Given the description of an element on the screen output the (x, y) to click on. 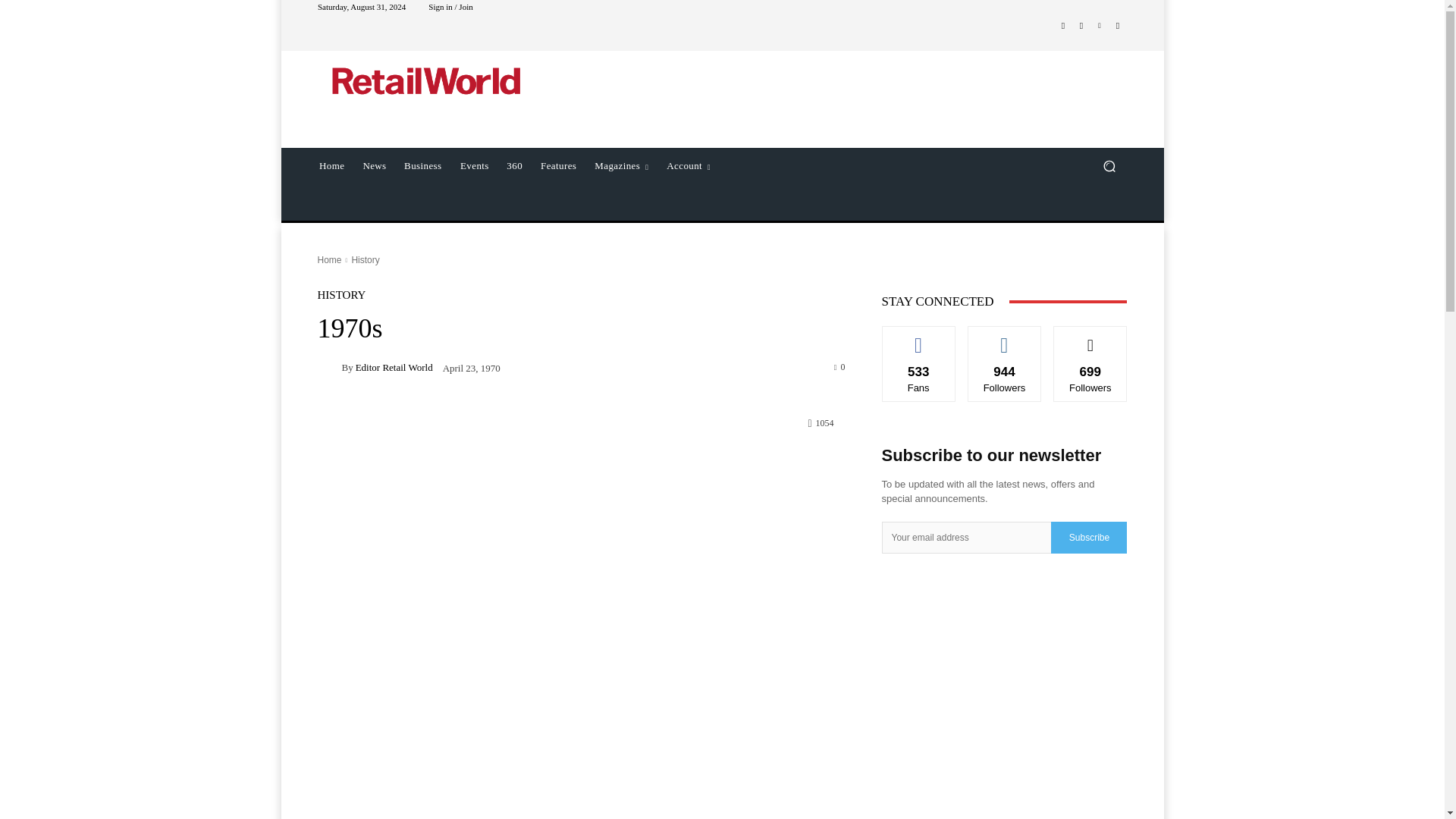
Business (421, 166)
360 (514, 166)
History (364, 259)
Features (558, 166)
Instagram (1080, 25)
Events (474, 166)
View all posts in History (364, 259)
Account (688, 166)
Facebook (1062, 25)
Home (328, 259)
